Given the description of an element on the screen output the (x, y) to click on. 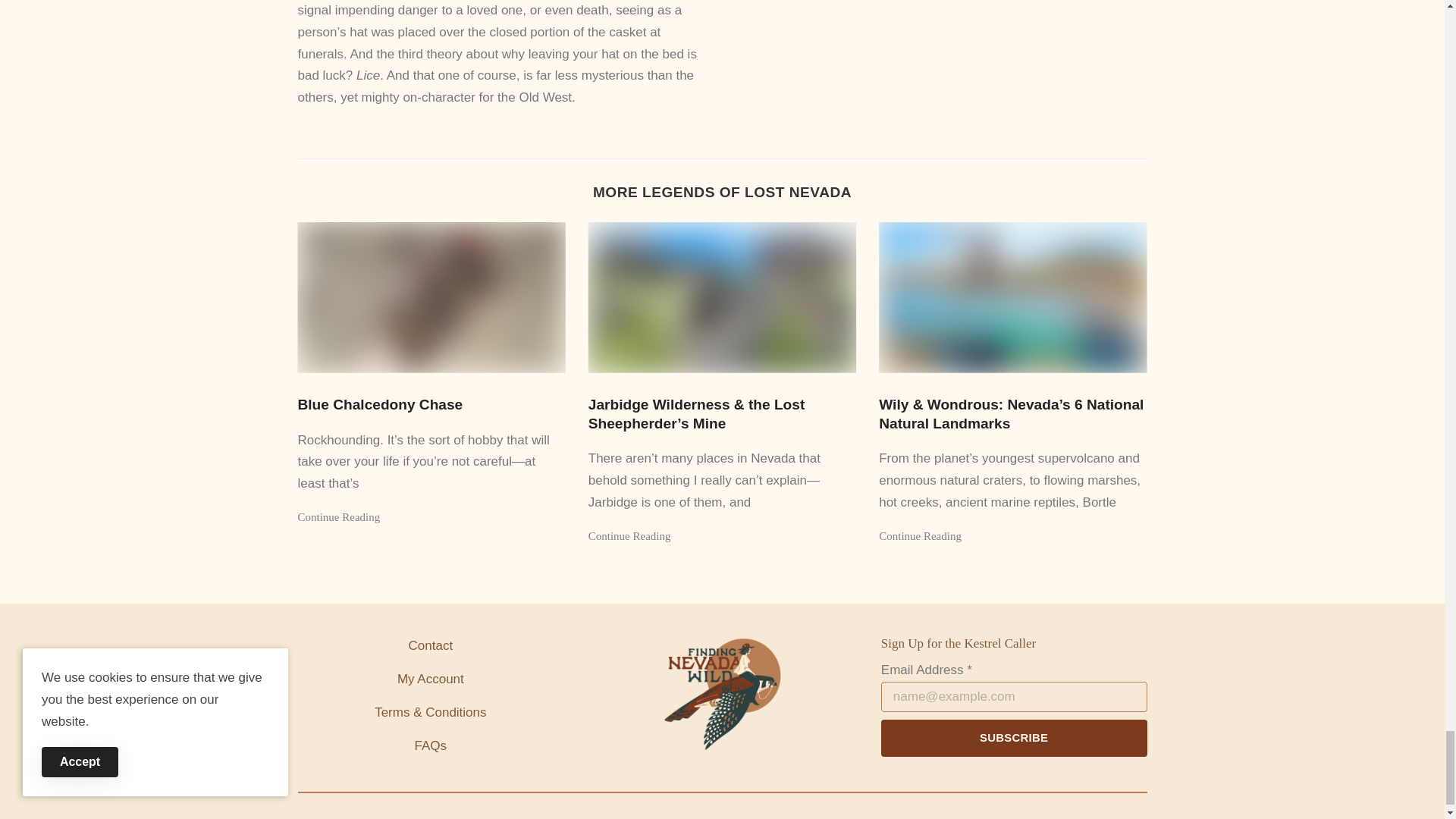
Blue Chalcedony Chase (430, 297)
Subscribe (1013, 737)
